Given the description of an element on the screen output the (x, y) to click on. 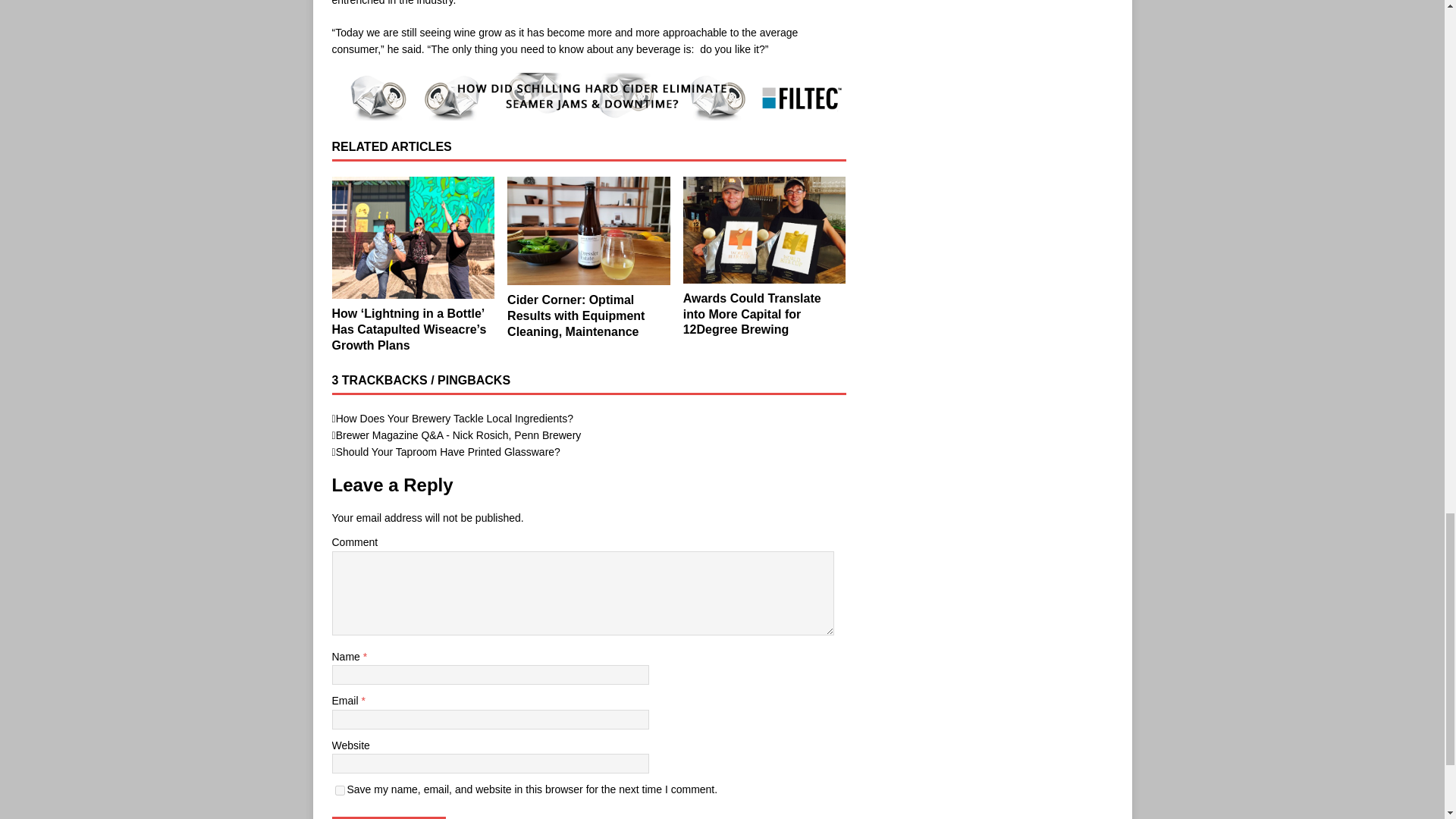
Post Comment (388, 817)
yes (339, 790)
